Given the description of an element on the screen output the (x, y) to click on. 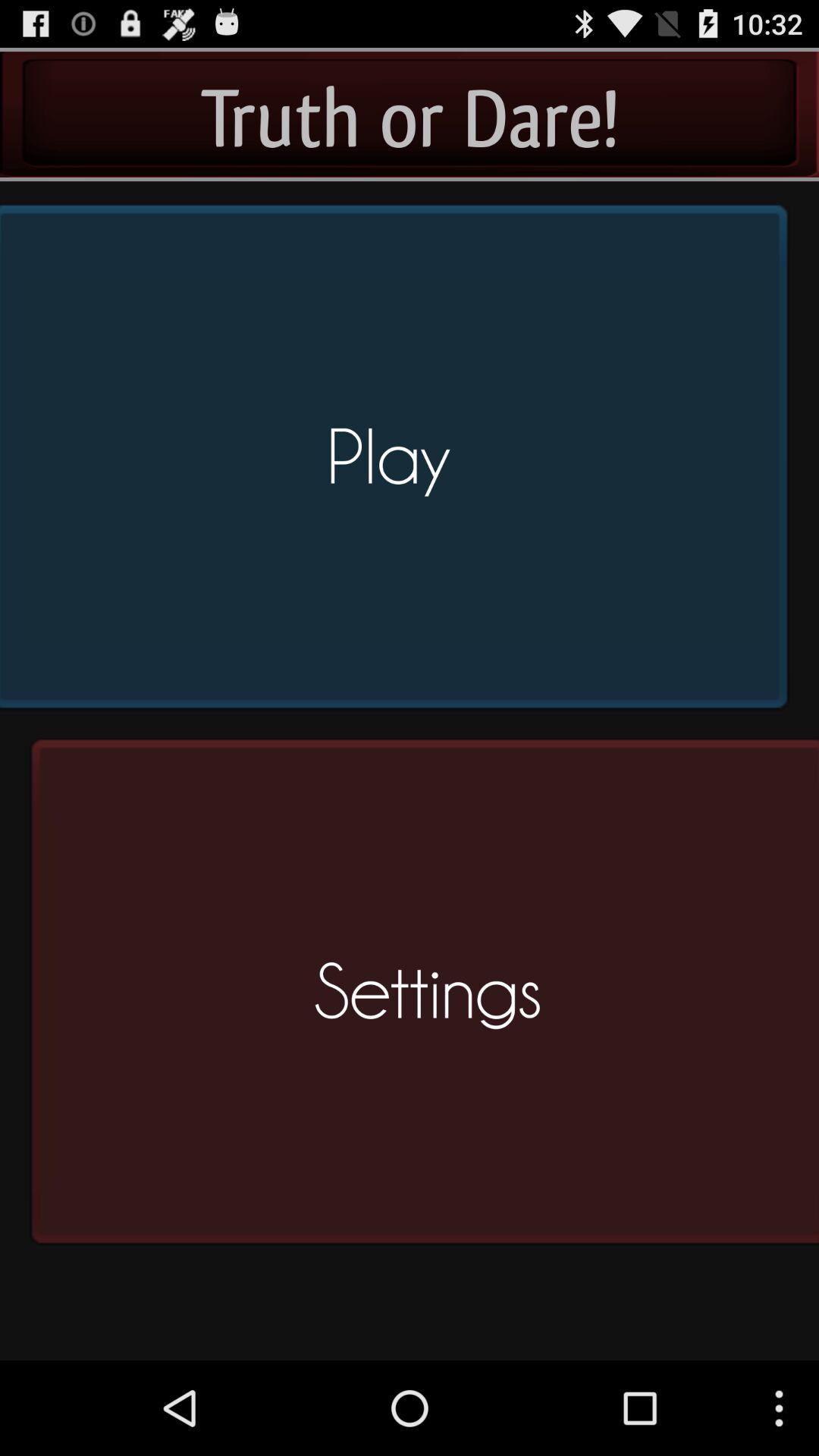
turn on the item below play button (419, 997)
